Given the description of an element on the screen output the (x, y) to click on. 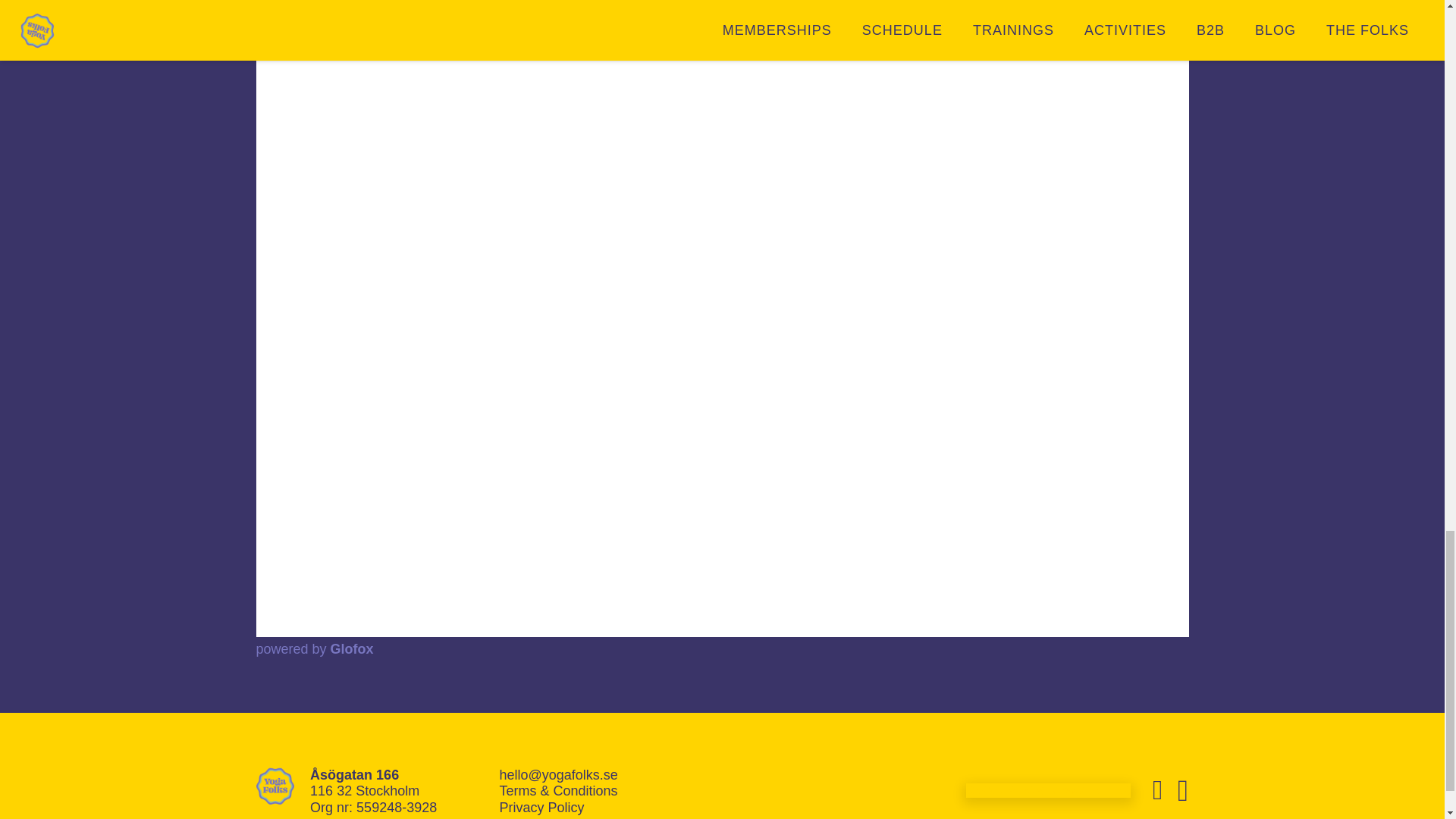
powered by Glofox (315, 648)
SIGN UP FOR NEWSLETTER (1048, 789)
Privacy Policy (541, 807)
